Given the description of an element on the screen output the (x, y) to click on. 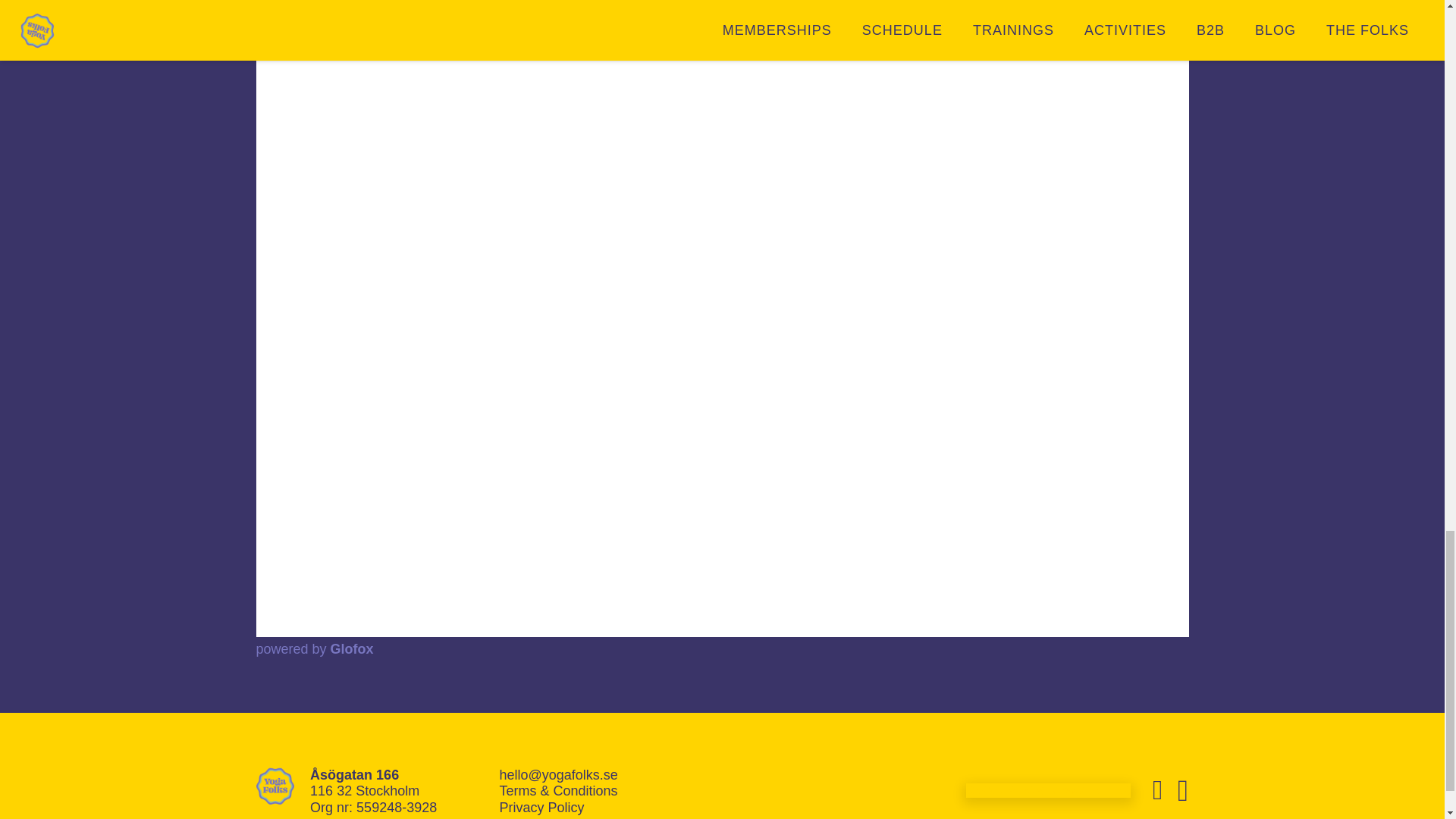
powered by Glofox (315, 648)
SIGN UP FOR NEWSLETTER (1048, 789)
Privacy Policy (541, 807)
